Given the description of an element on the screen output the (x, y) to click on. 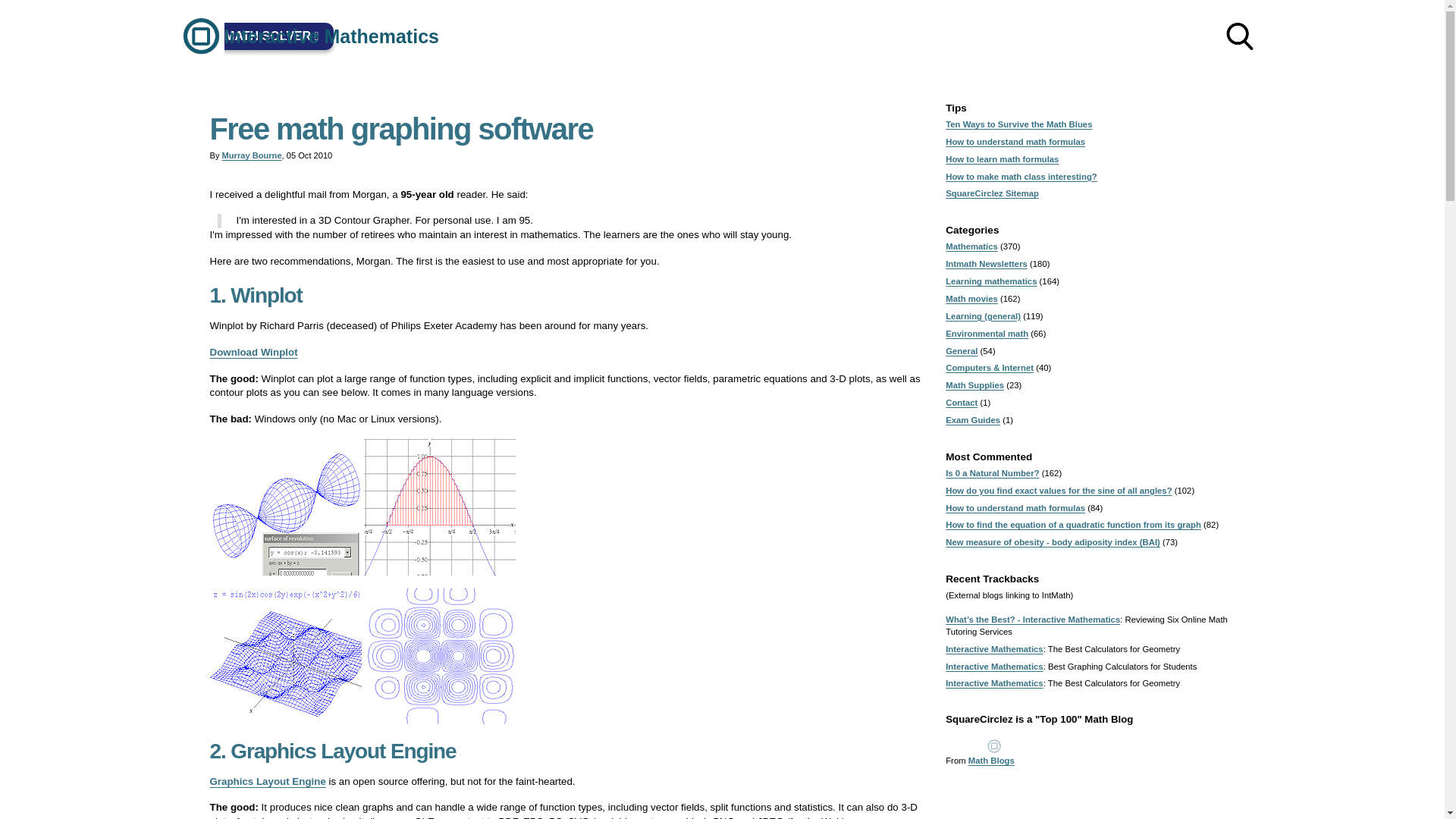
Download Winplot (253, 351)
Interactive Mathematics (307, 36)
Murray Bourne (252, 154)
Graphics Layout Engine (266, 781)
Search (1238, 35)
